Given the description of an element on the screen output the (x, y) to click on. 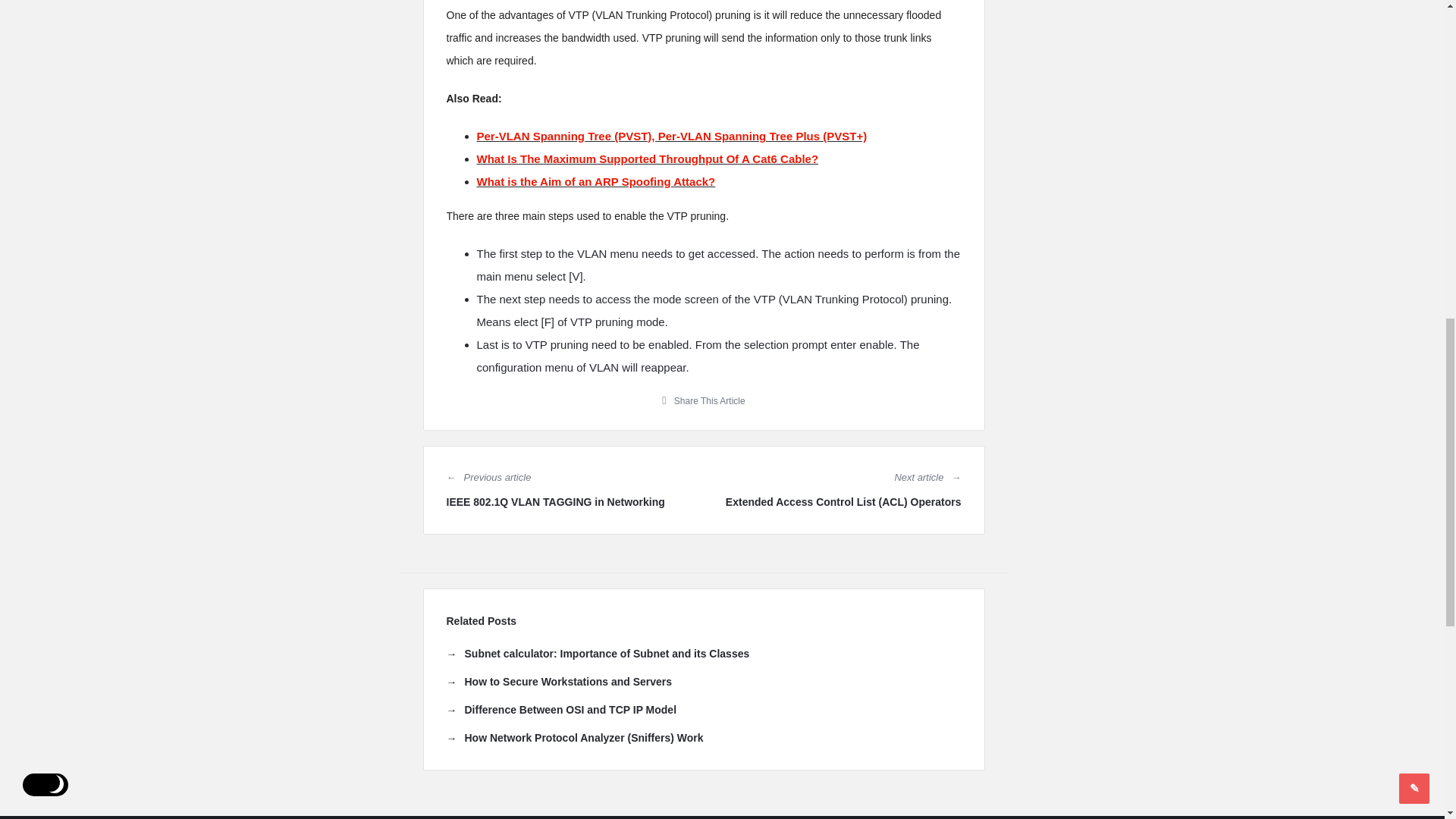
Difference Between OSI and TCP IP Model (561, 709)
Subnet calculator: Importance of Subnet and its Classes (597, 653)
How to Secure Workstations and Servers (558, 681)
